Given the description of an element on the screen output the (x, y) to click on. 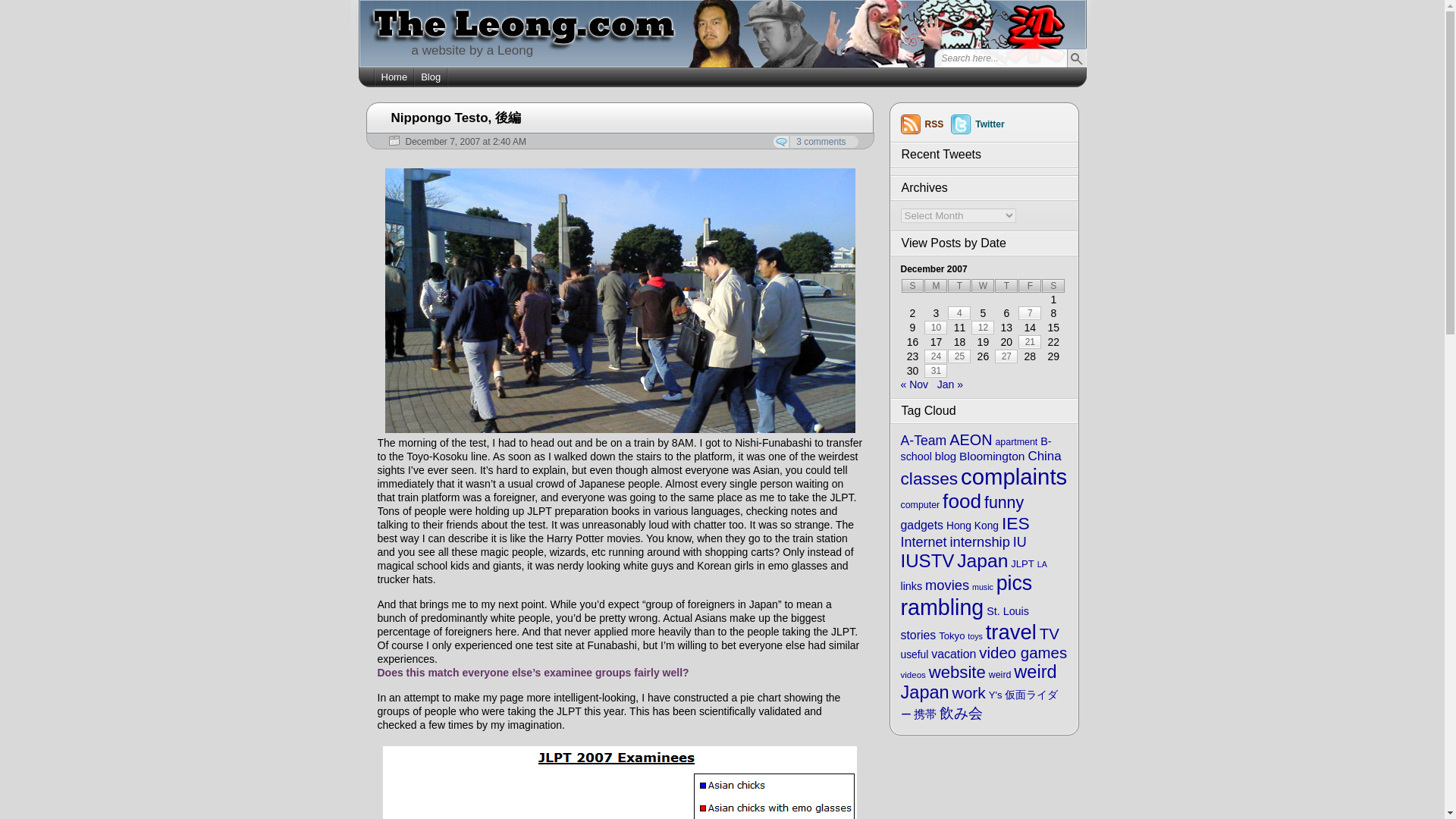
AEON (970, 439)
Wednesday (982, 285)
Find (1074, 57)
apartment (1015, 441)
Saturday (1053, 285)
Friday (1029, 285)
27 (1005, 356)
25 (959, 356)
7 (1029, 313)
Find (1074, 57)
